Given the description of an element on the screen output the (x, y) to click on. 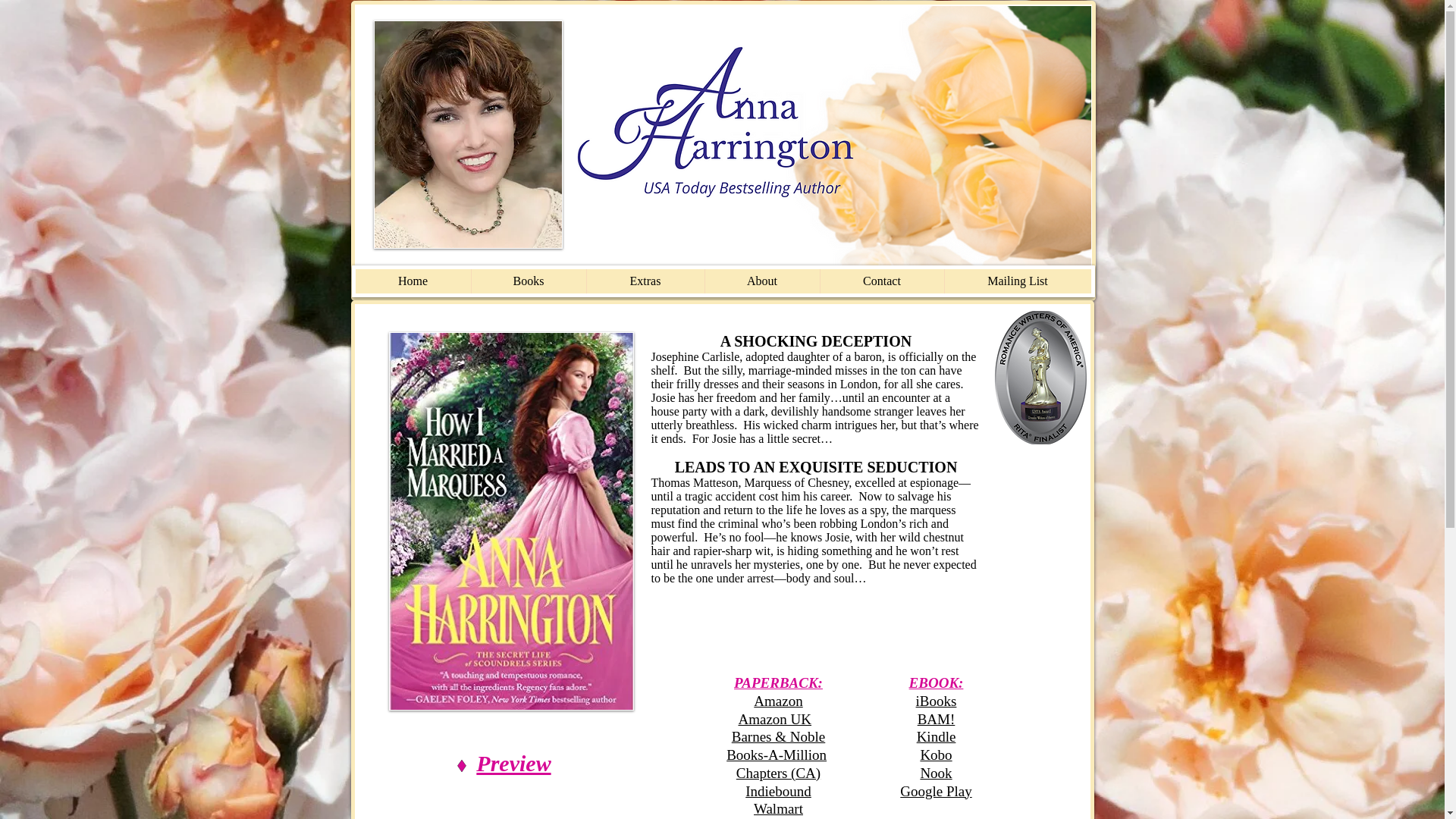
Google Play (935, 790)
Mailing List (1016, 281)
Home (412, 281)
Indiebound (777, 790)
Walmart (778, 808)
Kobo (936, 754)
About (760, 281)
Books-A-Million (776, 754)
Books (527, 281)
Kindle (936, 736)
iBooks (935, 700)
Extras (644, 281)
Amazon UK (774, 719)
BAM! (936, 719)
Amazon (778, 700)
